Given the description of an element on the screen output the (x, y) to click on. 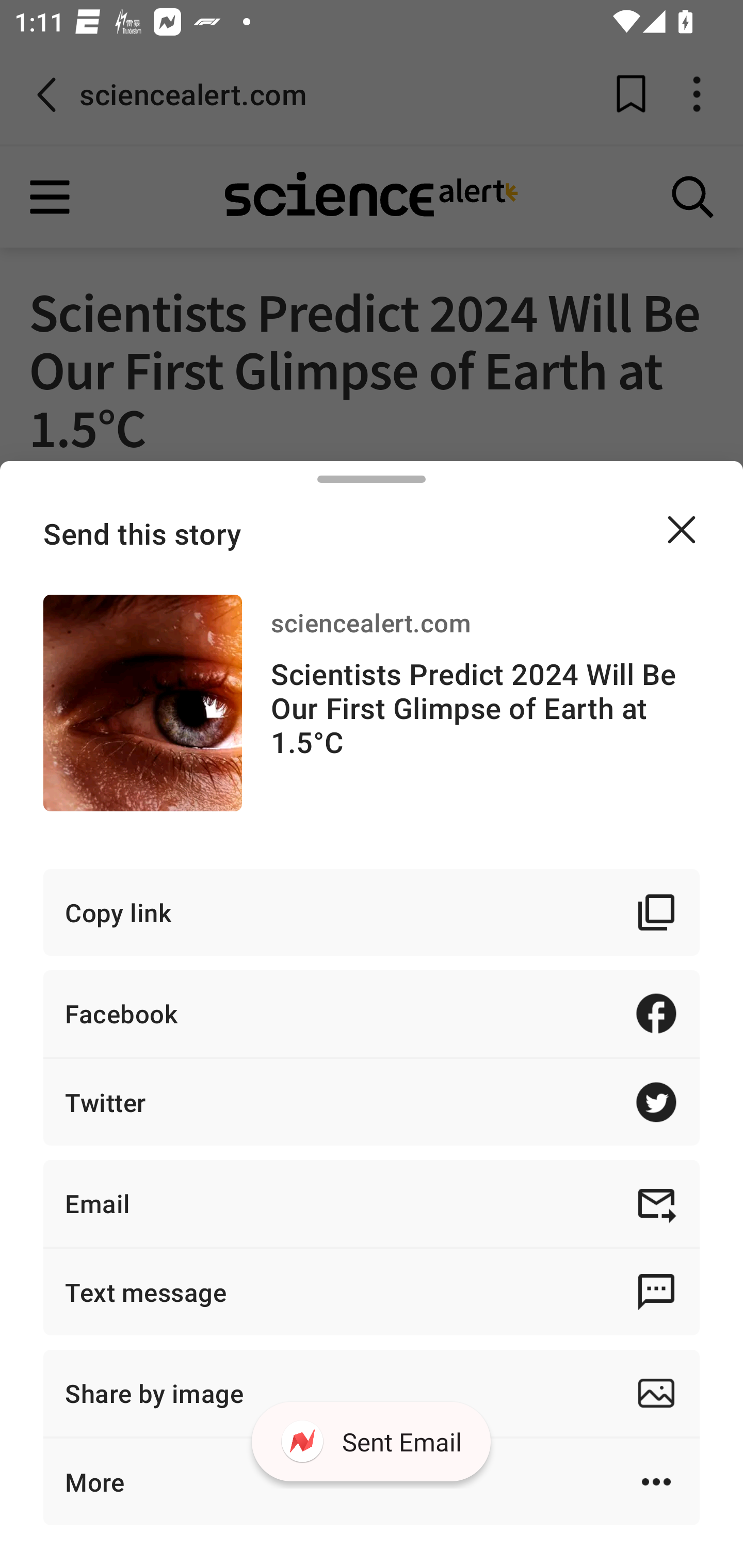
Copy link (371, 912)
Facebook (371, 1013)
Twitter (371, 1102)
Email (371, 1203)
Text message (371, 1291)
Share by image (371, 1393)
More (371, 1481)
